Given the description of an element on the screen output the (x, y) to click on. 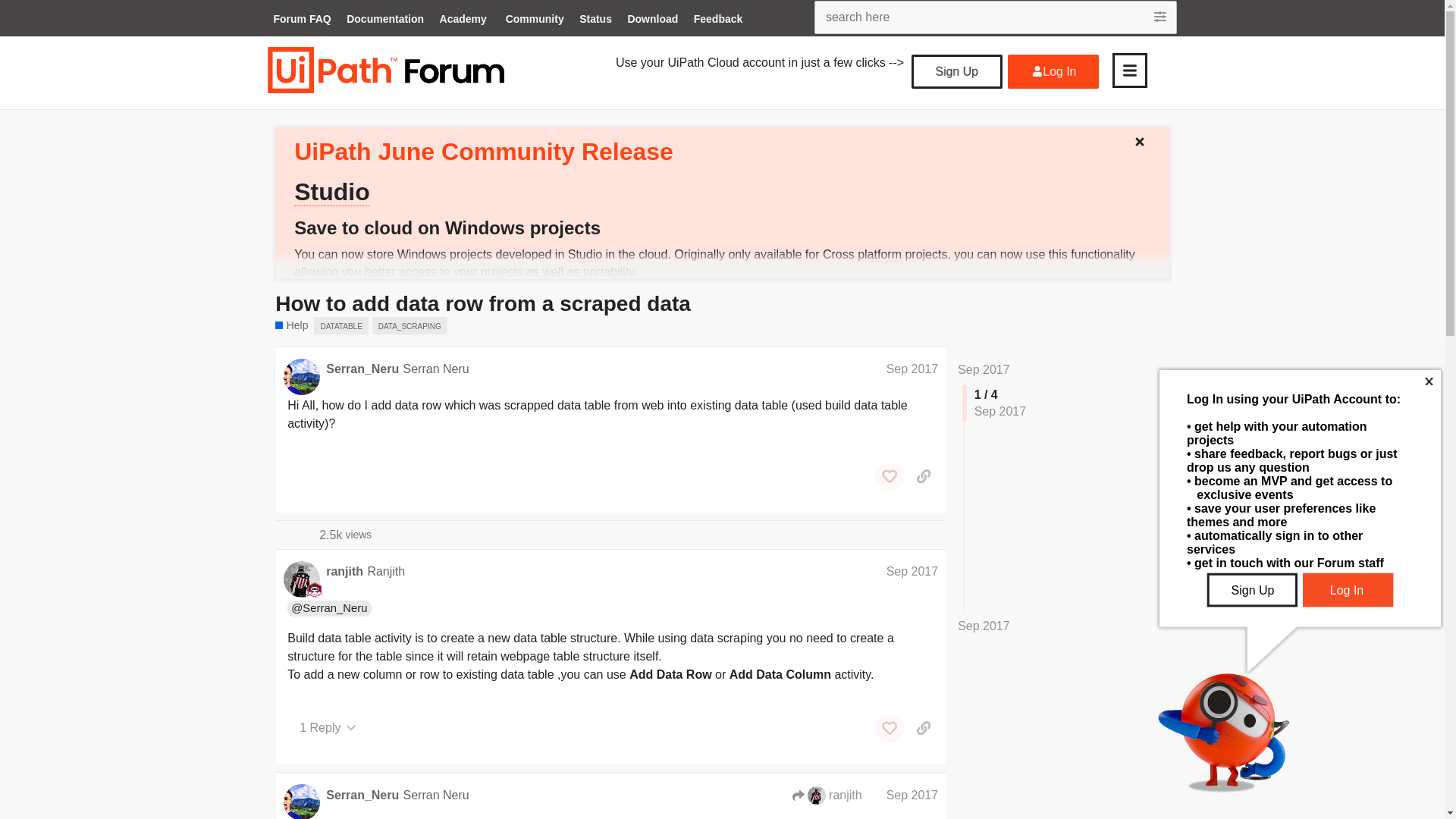
Dismiss this banner (1145, 137)
Academy (463, 20)
Forum FAQ (301, 20)
menu (1129, 69)
Documentation (384, 20)
Open advanced search (1161, 17)
